Given the description of an element on the screen output the (x, y) to click on. 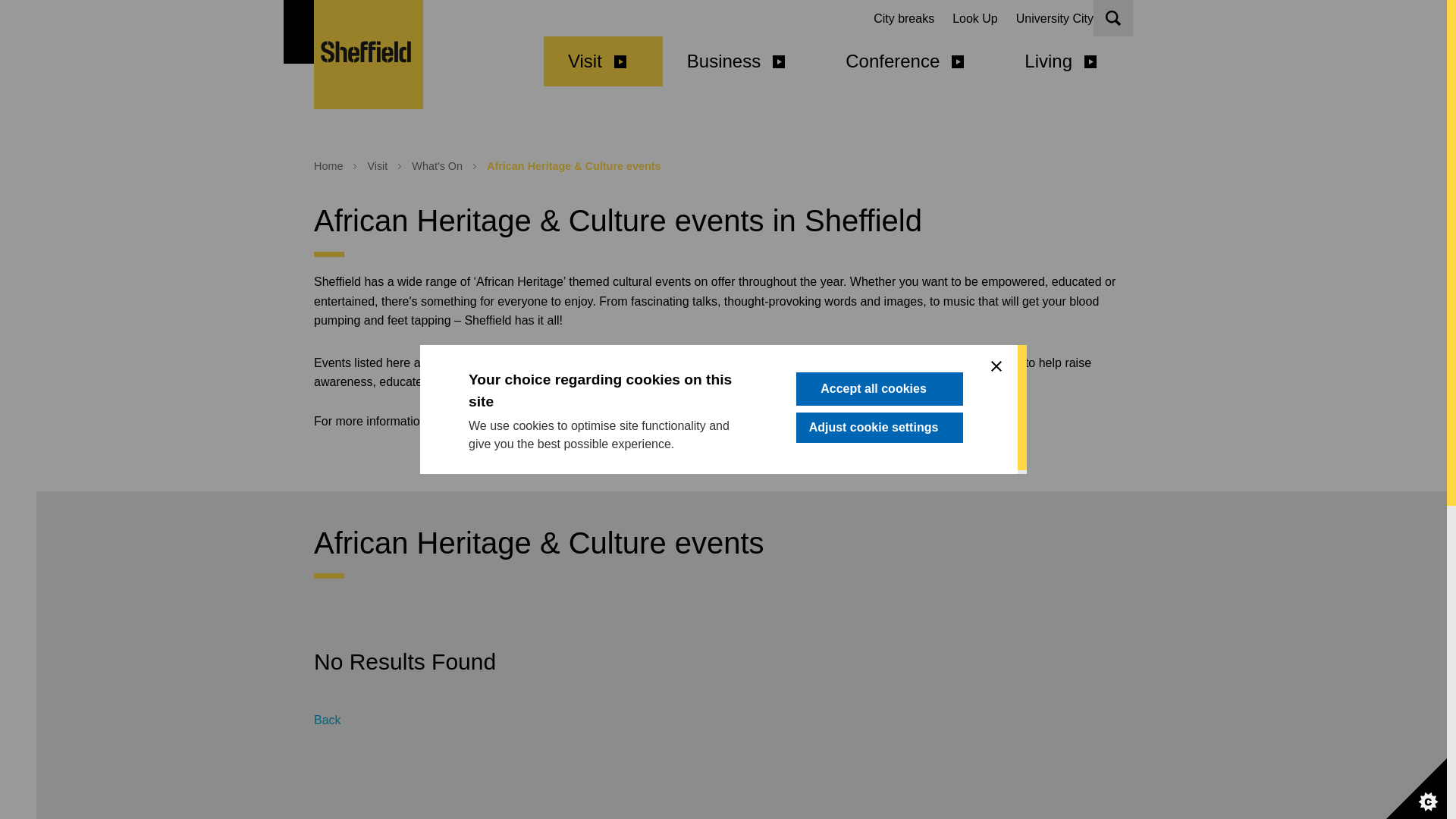
Accept all cookies (879, 390)
Welcome To Sheffield Logo (368, 54)
Adjust cookie settings (879, 427)
